Given the description of an element on the screen output the (x, y) to click on. 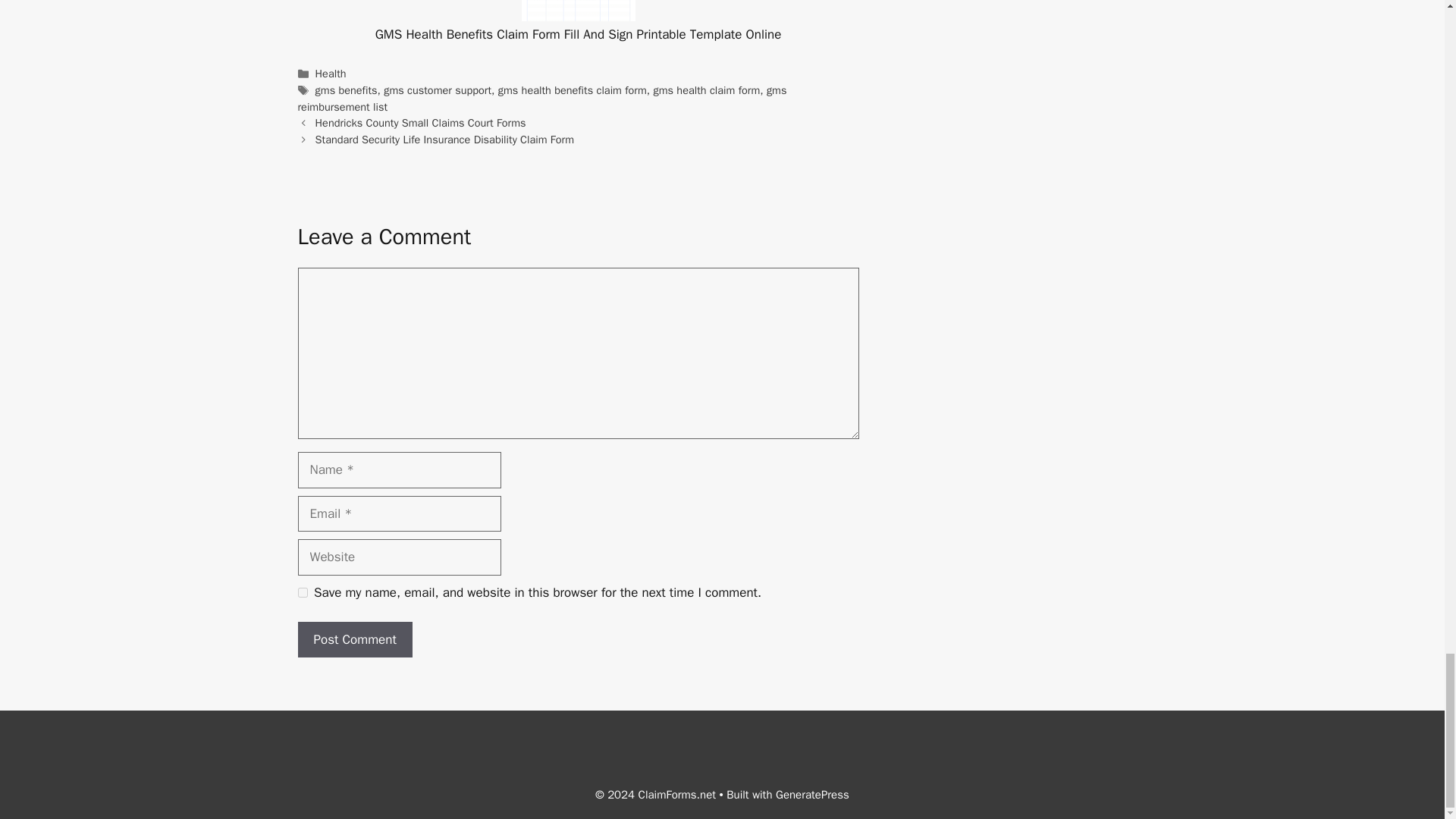
gms health claim form (706, 90)
Standard Security Life Insurance Disability Claim Form (444, 139)
GeneratePress (812, 794)
gms customer support (438, 90)
gms benefits (346, 90)
Post Comment (354, 639)
Hendricks County Small Claims Court Forms (420, 122)
gms health benefits claim form (571, 90)
Post Comment (354, 639)
Health (330, 73)
